Given the description of an element on the screen output the (x, y) to click on. 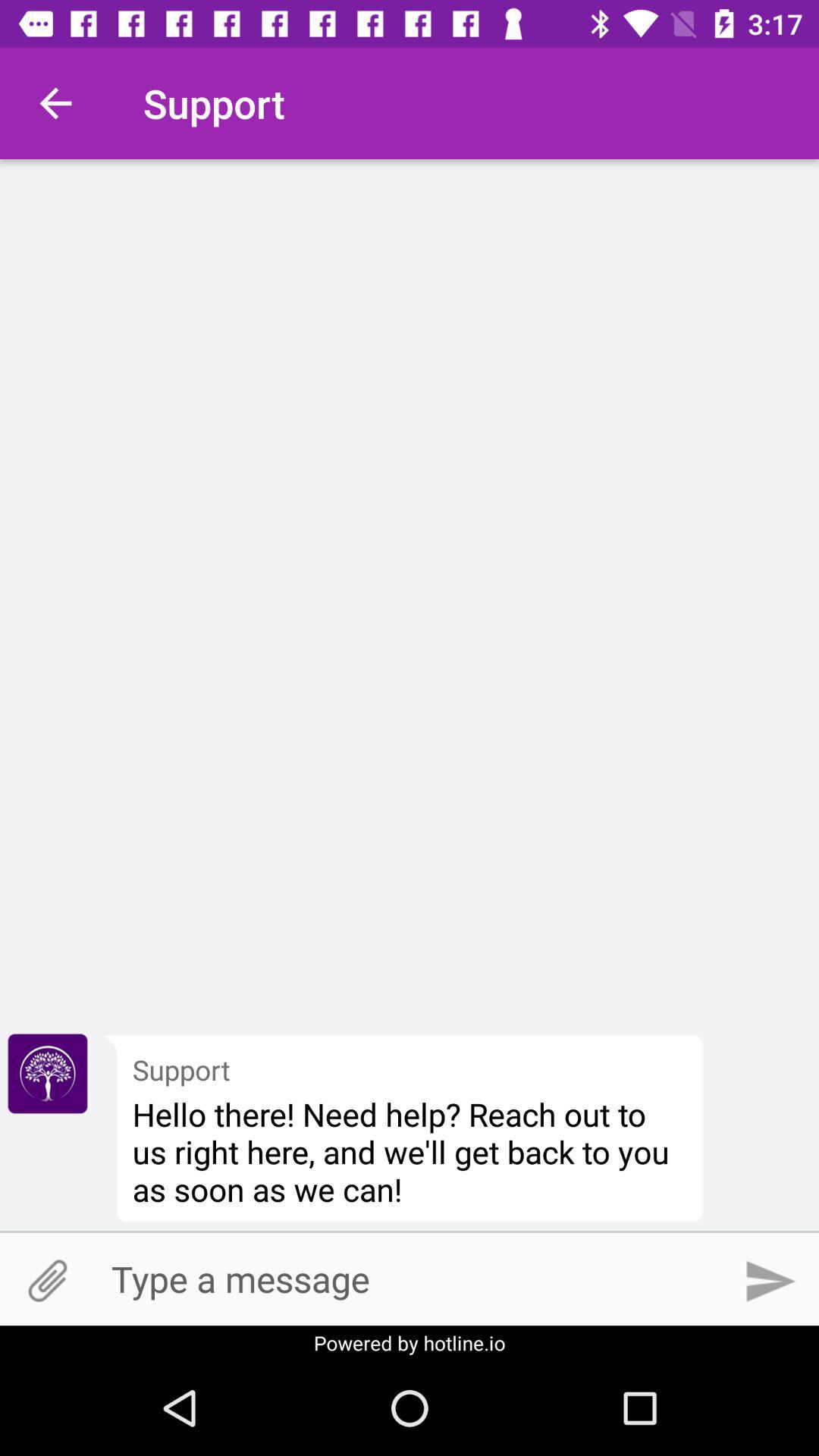
open icon to the left of support icon (55, 103)
